Given the description of an element on the screen output the (x, y) to click on. 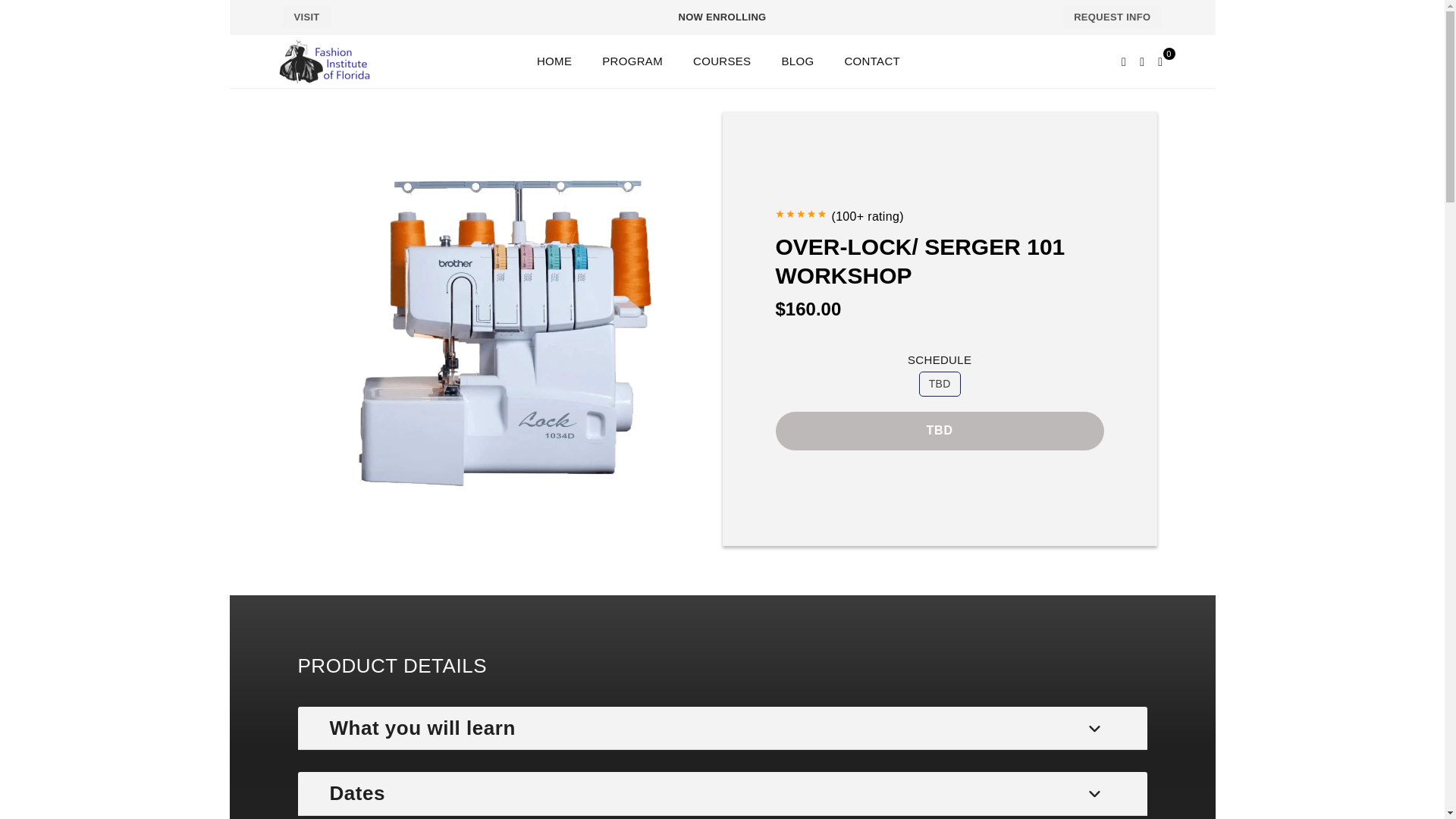
HOME (554, 60)
fashionsfl (339, 61)
VISIT (306, 16)
COURSES (721, 60)
PROGRAM (632, 60)
REQUEST INFO (1111, 16)
CONTACT (871, 60)
BLOG (797, 60)
